Given the description of an element on the screen output the (x, y) to click on. 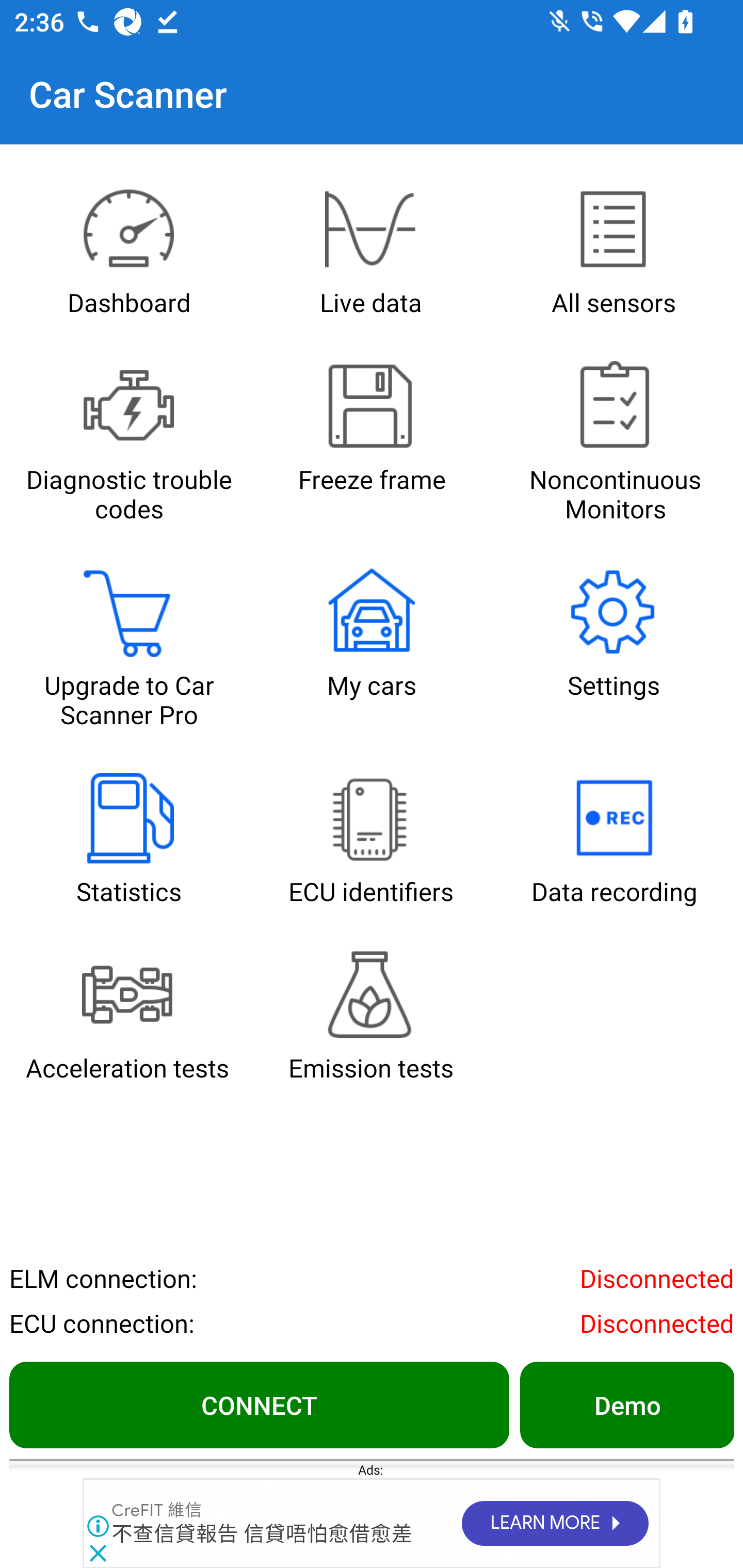
CONNECT (258, 1404)
Demo (627, 1404)
CreFIT 維信 (157, 1511)
LEARN MORE (554, 1523)
不查信貸報告 信貸唔怕愈借愈差 (262, 1534)
